Given the description of an element on the screen output the (x, y) to click on. 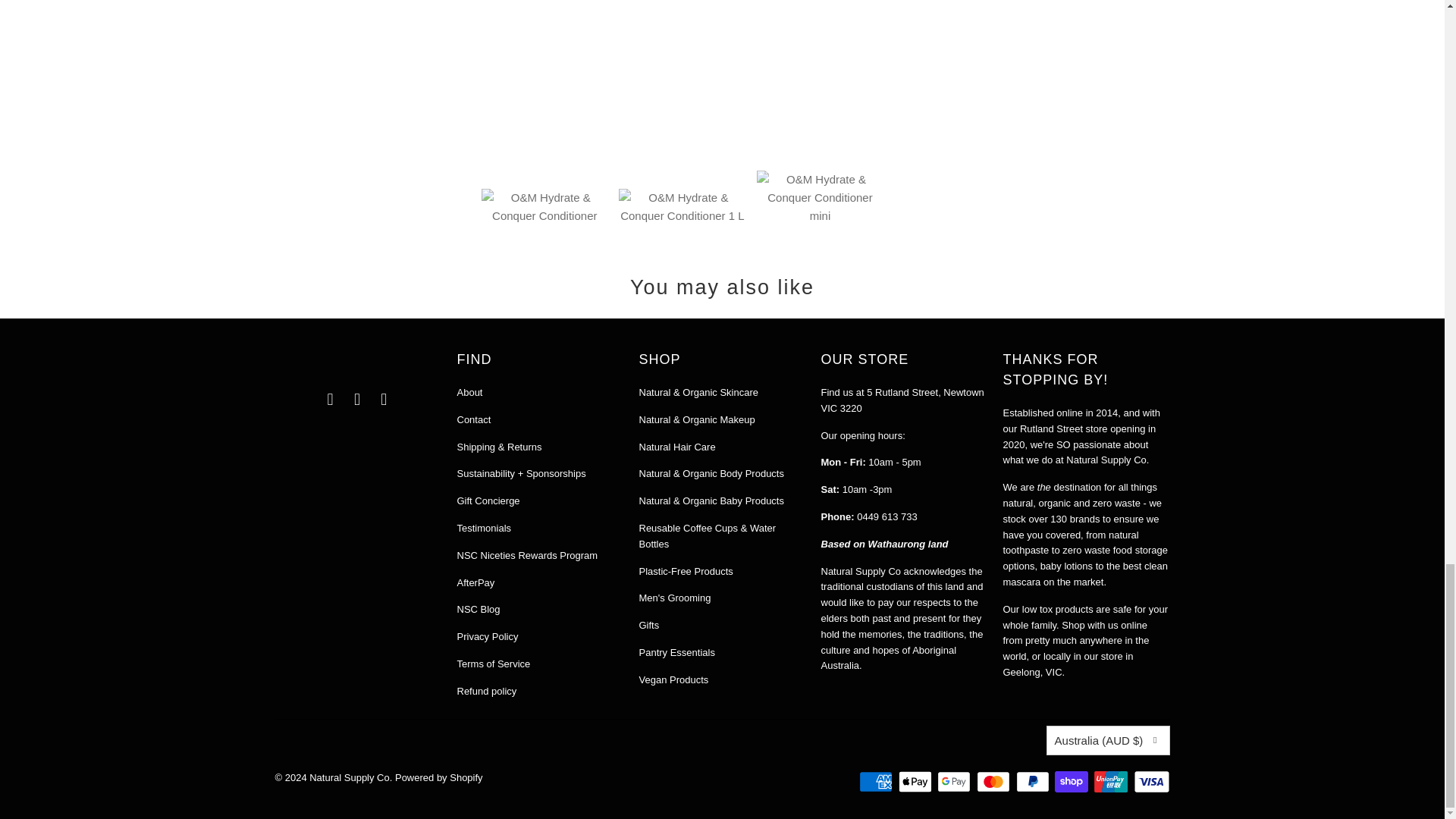
Union Pay (1112, 781)
Mastercard (994, 781)
Shop Pay (1072, 781)
Apple Pay (916, 781)
PayPal (1034, 781)
Natural Supply Co on Facebook (330, 399)
Natural Supply Co on TikTok (384, 399)
Natural Supply Co on Instagram (357, 399)
Visa (1150, 781)
Google Pay (955, 781)
